Given the description of an element on the screen output the (x, y) to click on. 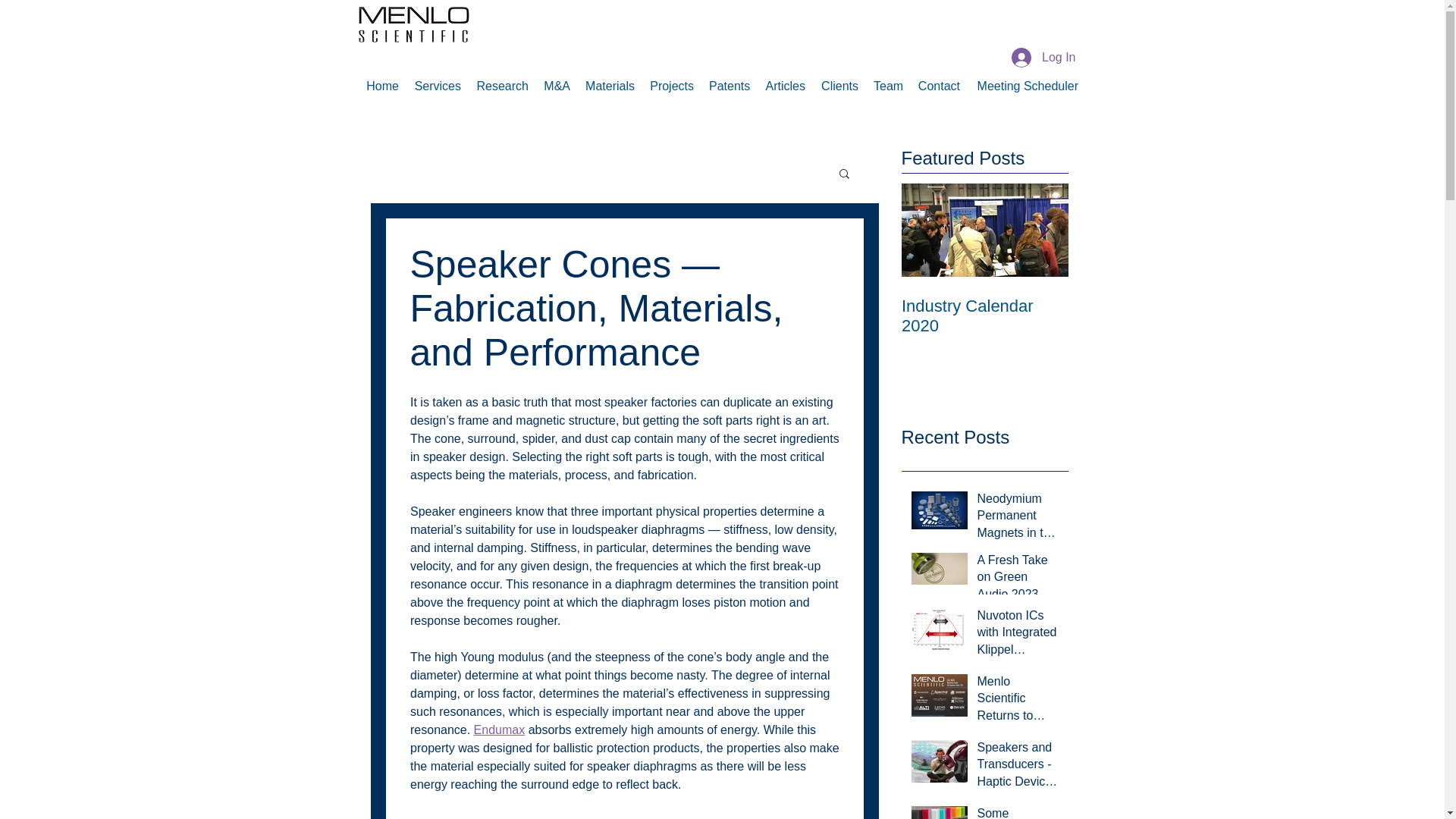
Log In (1043, 57)
Industry Calendar 2020 (984, 315)
Endumax (498, 729)
MS-logoFIN1.jpg (414, 24)
New High-Performance Cone and Diaphragm Technology (1150, 325)
A Fresh Take on Green Audio 2023 (1017, 580)
Neodymium Permanent Magnets in the United States (1017, 518)
Meeting Scheduler (1027, 85)
